Given the description of an element on the screen output the (x, y) to click on. 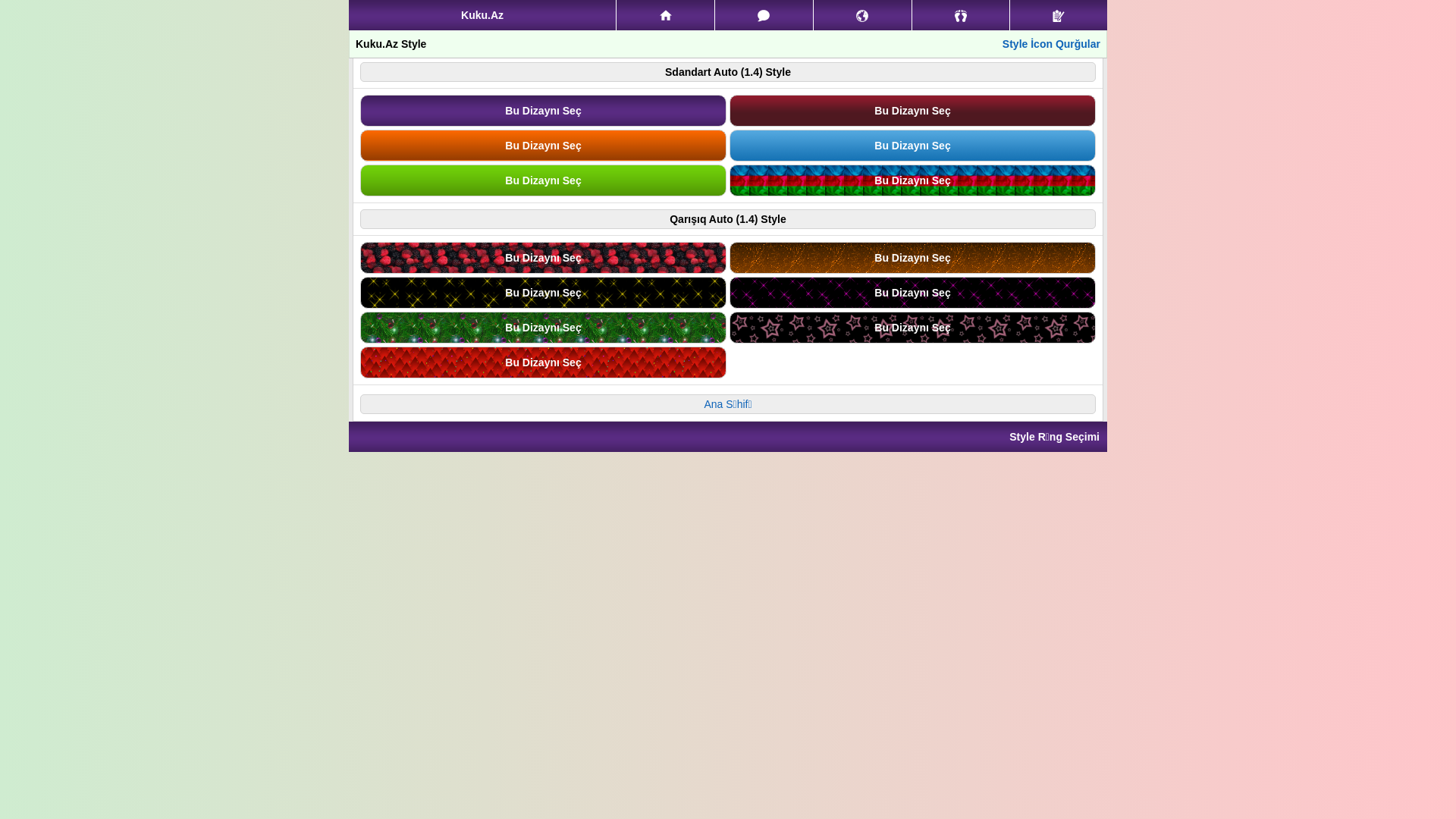
Qonaqlar Element type: hover (961, 15)
Bildirisler Element type: hover (862, 15)
Qeydiyyat Element type: hover (1058, 15)
Mesajlar Element type: hover (763, 15)
Sdandart Auto (1.4) Style Element type: text (727, 71)
